Given the description of an element on the screen output the (x, y) to click on. 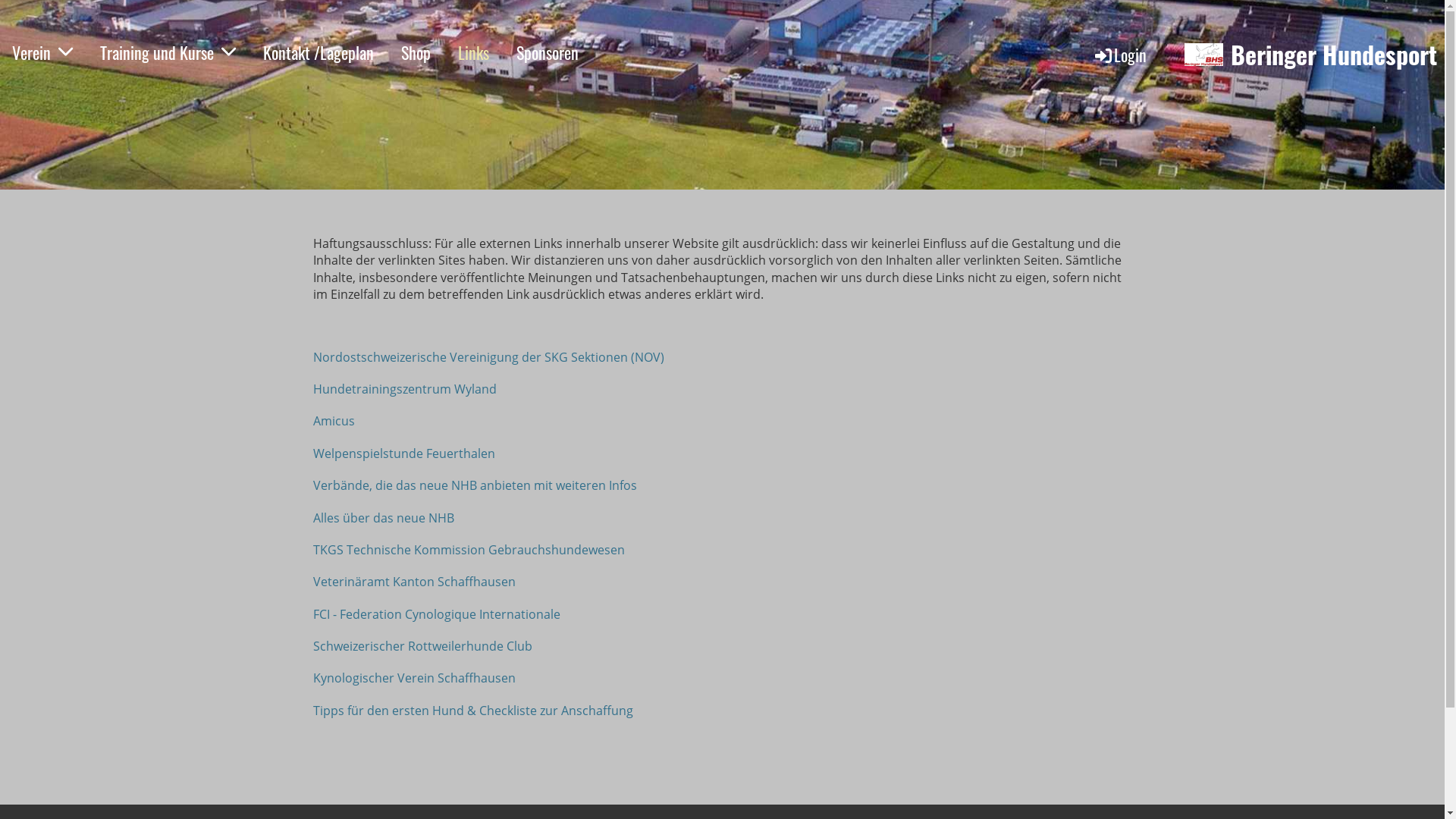
Hundetrainingszentrum Wyland Element type: text (403, 388)
Kontakt /Lageplan Element type: text (318, 52)
TKGS Technische Kommission Gebrauchshundewesen Element type: text (468, 549)
Welpenspielstunde Feuerthalen Element type: text (403, 453)
FCI - Federation Cynologique Internationale Element type: text (435, 613)
Training und Kurse Element type: text (167, 52)
Amicus Element type: text (333, 420)
Sponsoren Element type: text (547, 52)
Shop Element type: text (415, 52)
Nordostschweizerische Vereinigung der SKG Sektionen (NOV) Element type: text (487, 356)
Schweizerischer Rottweilerhunde Club Element type: text (421, 645)
Verein Element type: text (42, 52)
Beringer Hundesport Element type: text (1333, 54)
Links Element type: text (473, 52)
Kynologischer Verein Schaffhausen Element type: text (413, 677)
Login Element type: text (1119, 54)
